Given the description of an element on the screen output the (x, y) to click on. 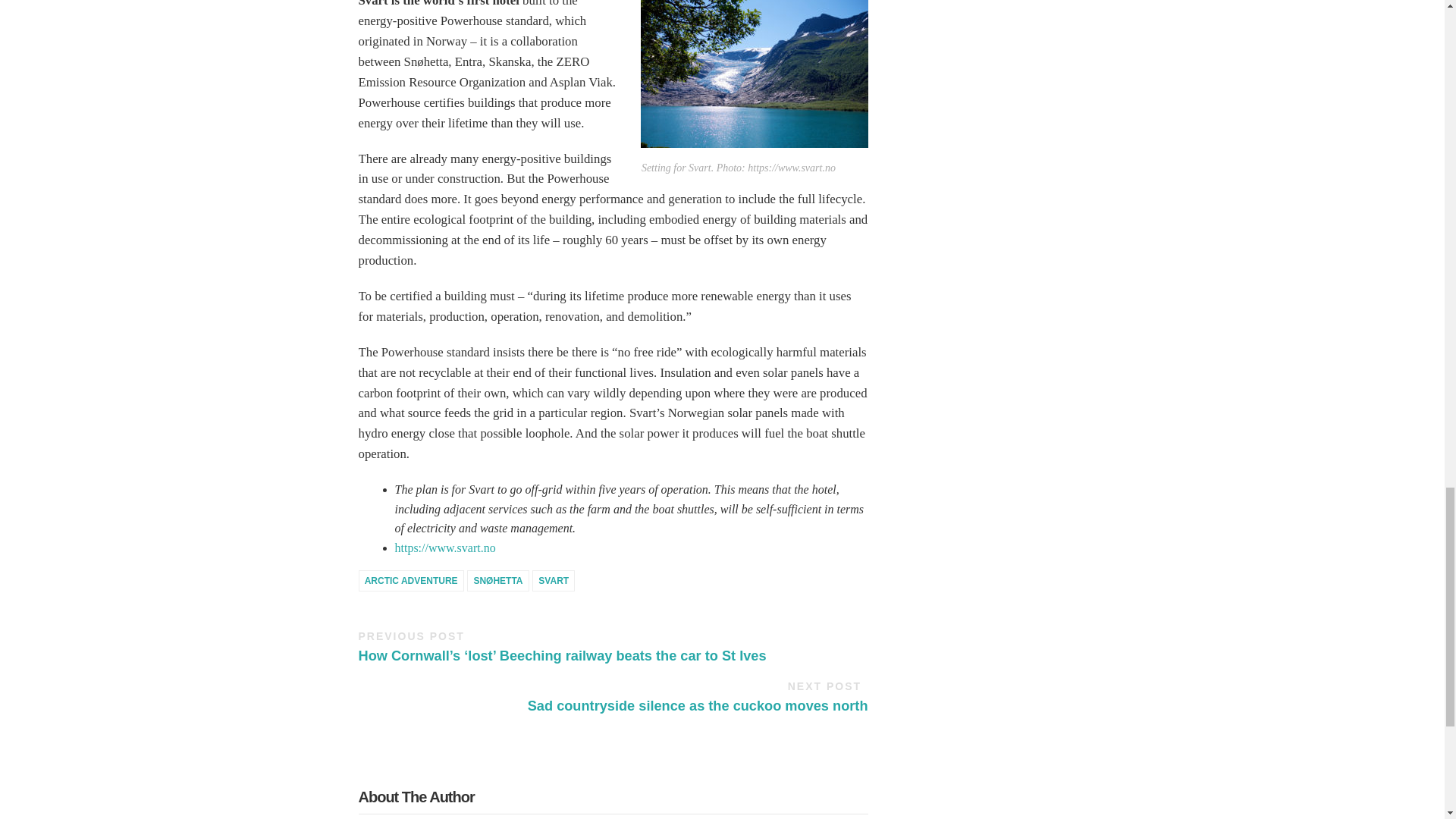
ARCTIC ADVENTURE (410, 580)
SVART (553, 580)
